Given the description of an element on the screen output the (x, y) to click on. 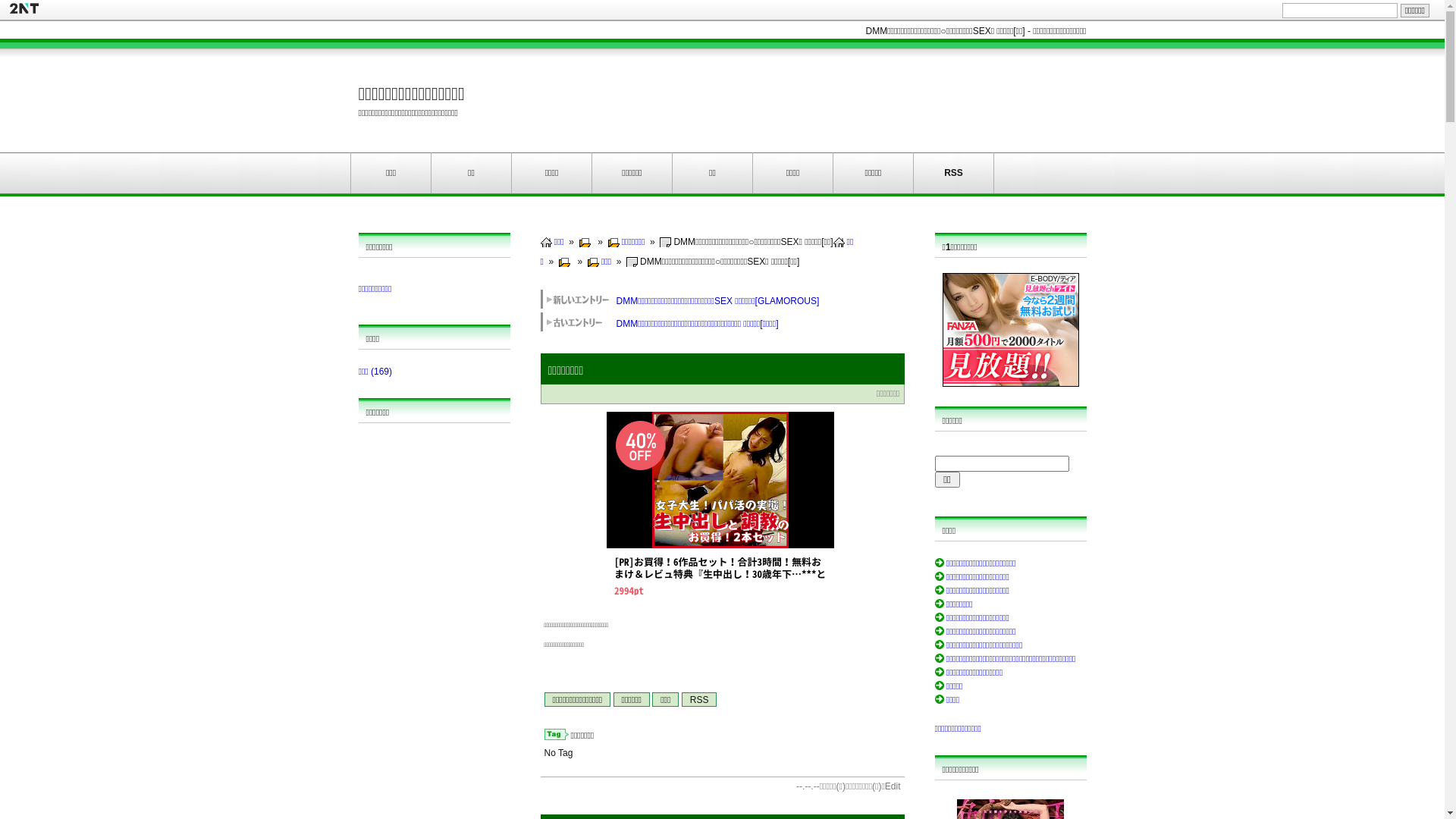
RSS Element type: text (953, 172)
Edit Element type: text (892, 786)
RSS Element type: text (699, 699)
